Given the description of an element on the screen output the (x, y) to click on. 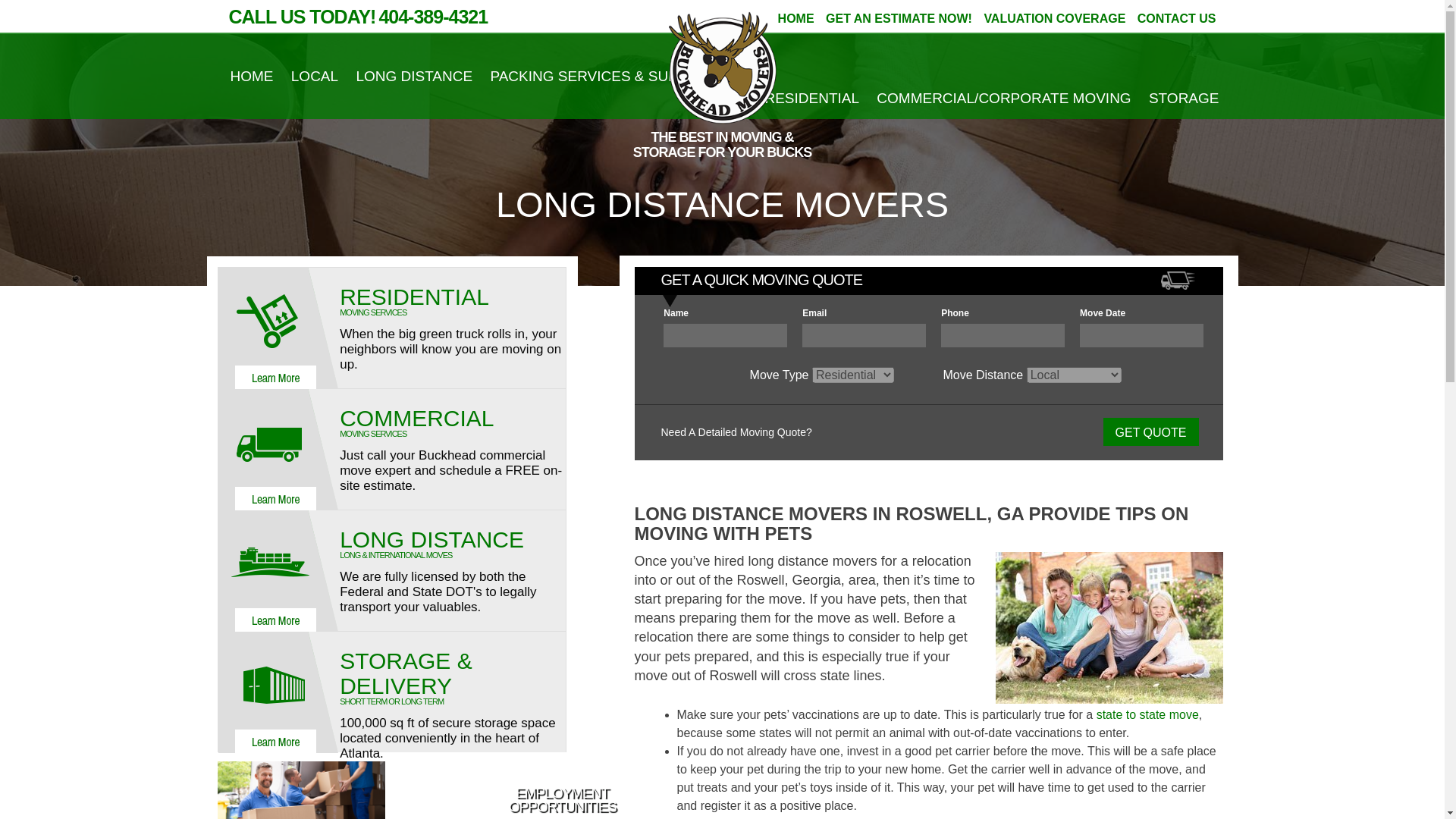
LOCAL (314, 75)
CONTACT US (1176, 18)
GET AN ESTIMATE NOW! (898, 18)
HOME (251, 75)
LONG DISTANCE (413, 75)
Get Quote (1150, 431)
RESIDENTIAL (811, 97)
STORAGE (1184, 97)
Get Quote (1150, 431)
VALUATION COVERAGE (1054, 18)
state to state move (1147, 714)
HOME (795, 18)
Need A Detailed Moving Quote? (736, 431)
